Given the description of an element on the screen output the (x, y) to click on. 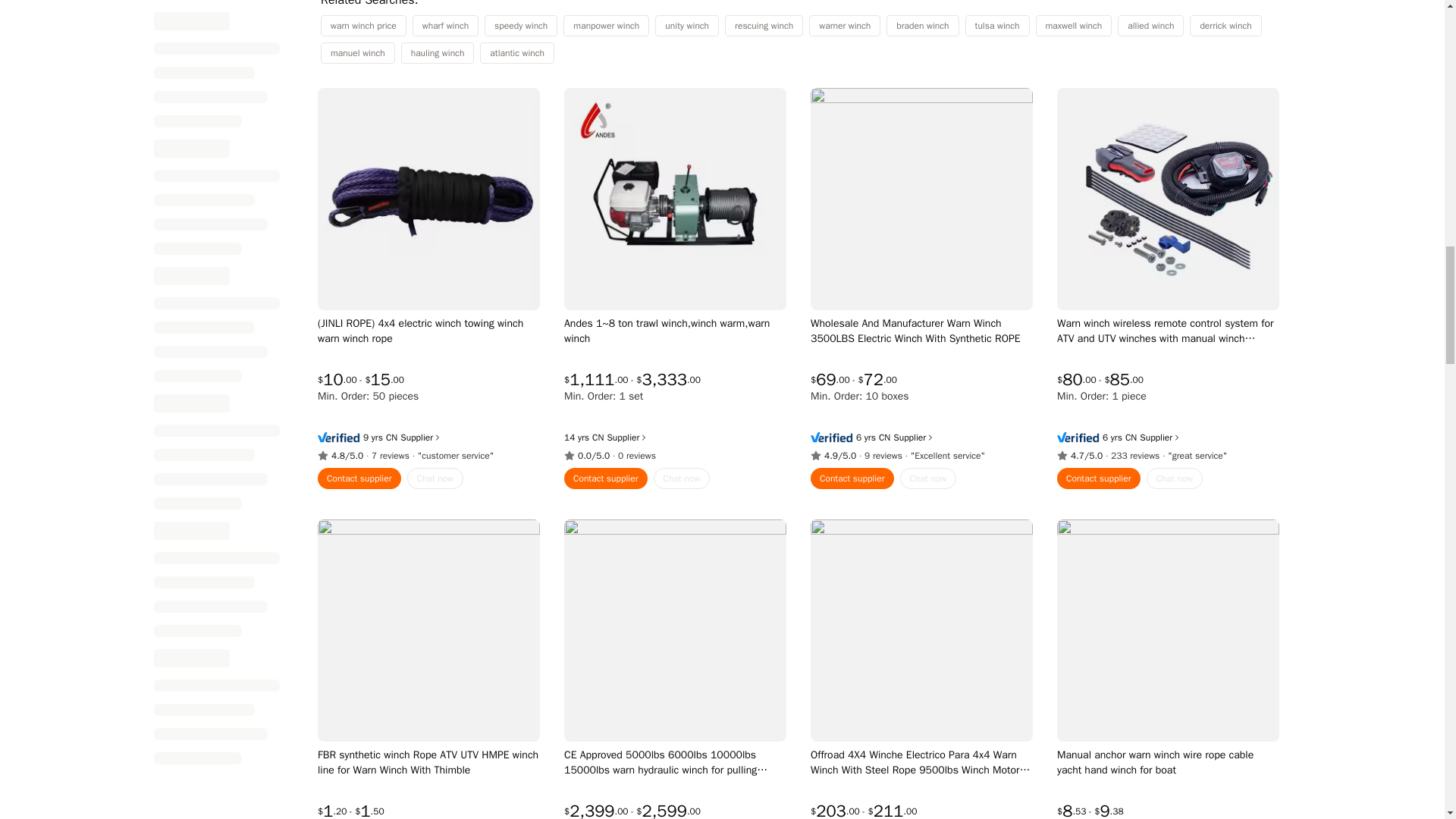
Max Power Auto Racing Products Co., Ltd. (1129, 437)
Changshu Andes Electric Power Tools Manufacturing Co., Ltd. (598, 437)
Shanghai Jinli Special Rope Co., Ltd (390, 437)
Guangzhou Unity 4WD Accessories Co., Limited (883, 437)
